Given the description of an element on the screen output the (x, y) to click on. 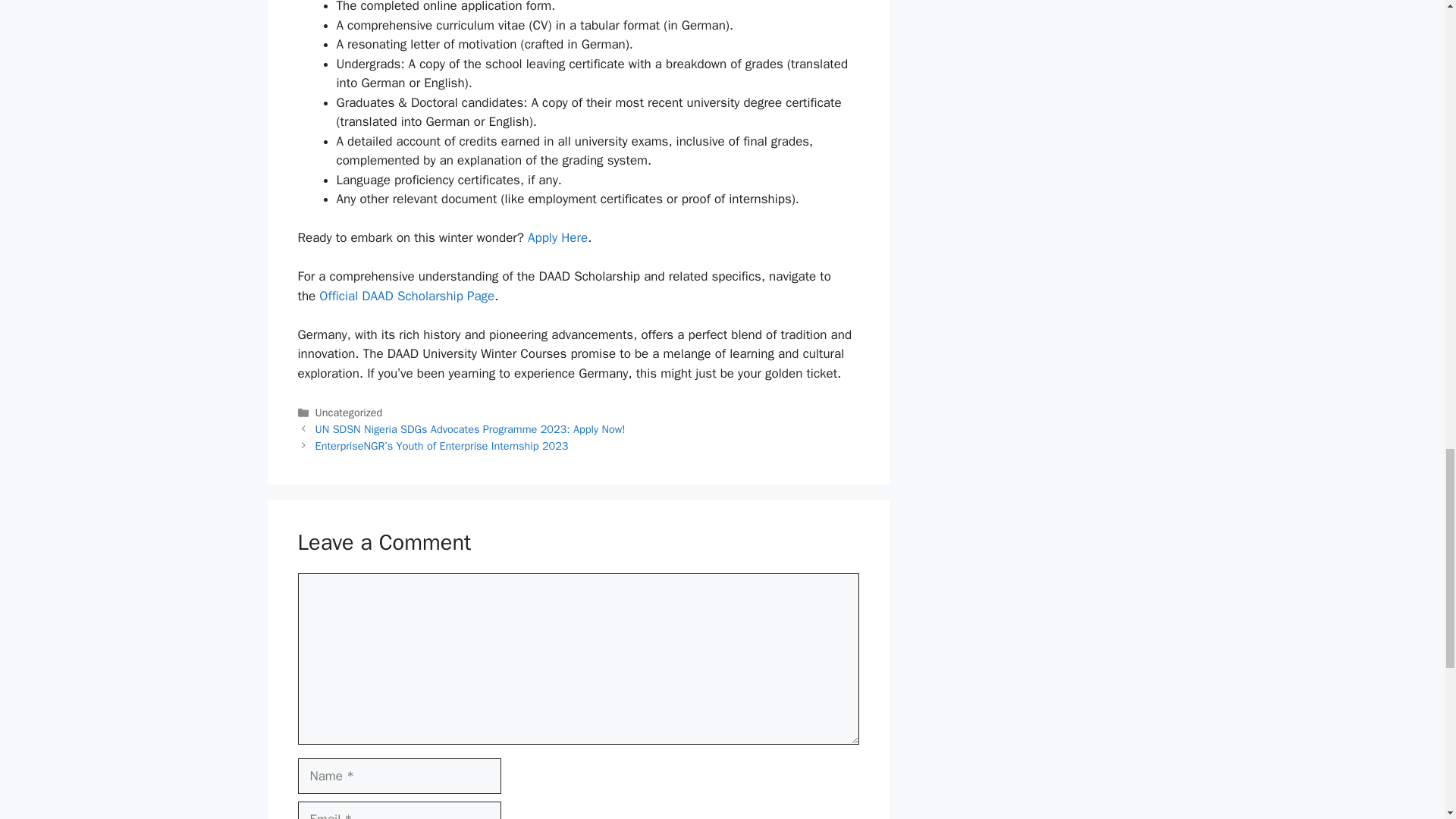
Official DAAD Scholarship Page (406, 295)
Apply Here (557, 237)
UN SDSN Nigeria SDGs Advocates Programme 2023: Apply Now! (470, 428)
